Given the description of an element on the screen output the (x, y) to click on. 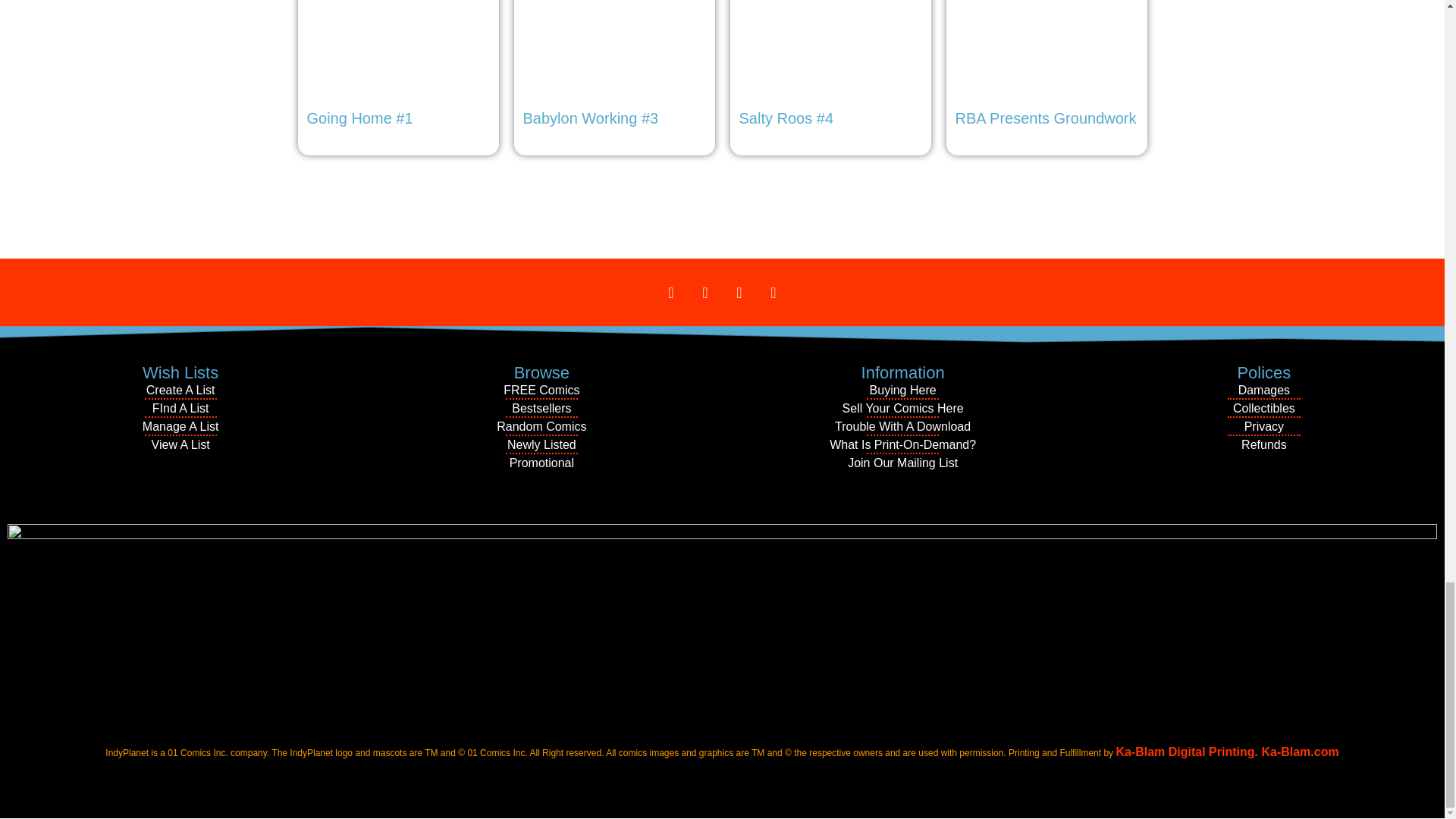
Create A List (180, 390)
FREE Comics (541, 390)
Bestsellers (541, 408)
Ka-Blam Digital Printing. Ka-Blam.com (1226, 751)
Join Our Mailing List (902, 463)
View A List (180, 444)
Newly Listed (541, 444)
Sell Your Comics Here (902, 408)
What Is Print-On-Demand? (902, 444)
FInd A List (180, 408)
Trouble With A Download (902, 426)
Random Comics (541, 426)
Buying Here (902, 390)
Promotional (541, 463)
RBA Presents Groundwork (1046, 67)
